Given the description of an element on the screen output the (x, y) to click on. 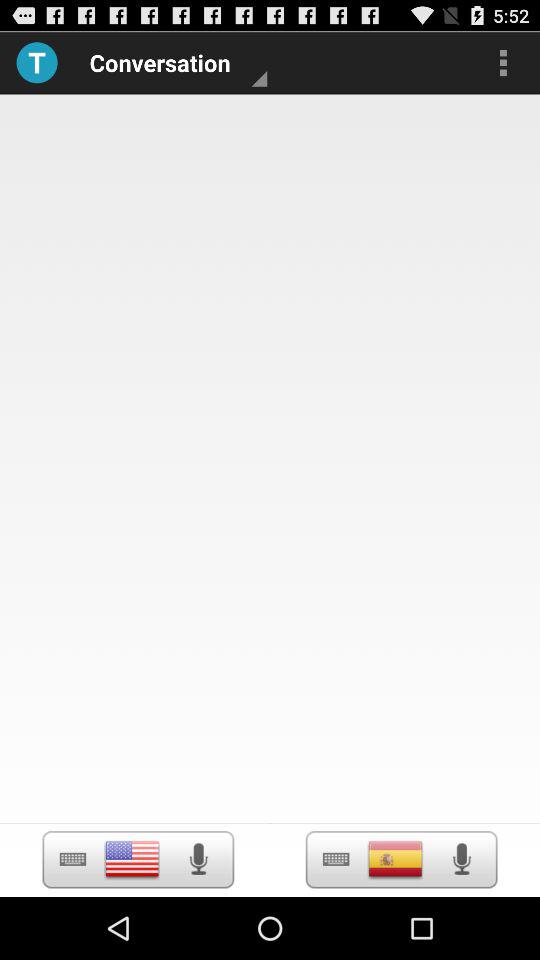
go to record (198, 859)
